Given the description of an element on the screen output the (x, y) to click on. 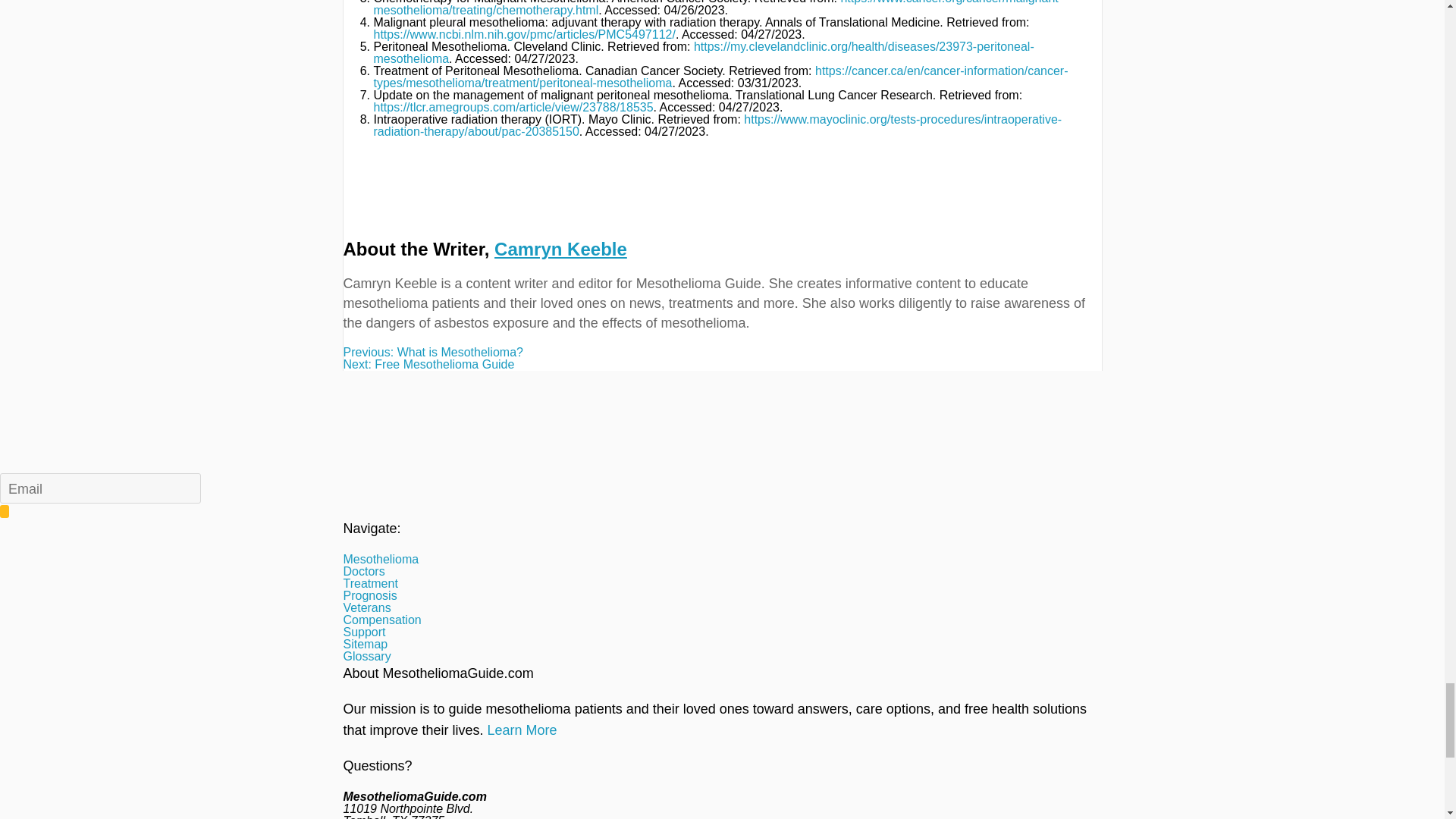
Please provide a valid email. (100, 488)
What is Mesothelioma? (721, 352)
Free Mesothelioma Guide (721, 364)
